Given the description of an element on the screen output the (x, y) to click on. 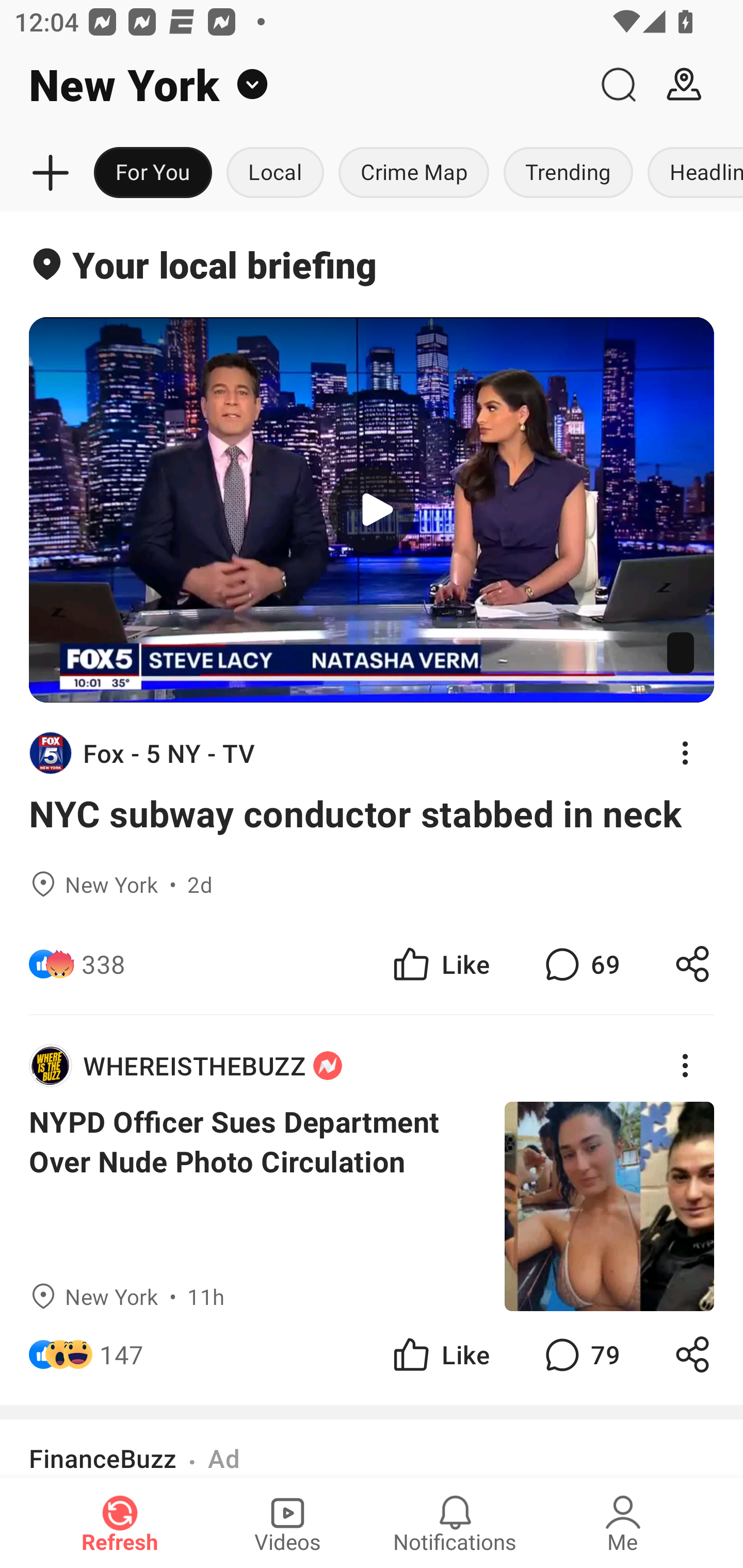
New York (292, 84)
For You (152, 172)
Local (275, 172)
Crime Map (413, 172)
Trending (568, 172)
338 (103, 963)
Like (439, 963)
69 (579, 963)
147 (121, 1353)
Like (439, 1353)
79 (579, 1353)
FinanceBuzz (102, 1457)
Videos (287, 1522)
Notifications (455, 1522)
Me (622, 1522)
